Given the description of an element on the screen output the (x, y) to click on. 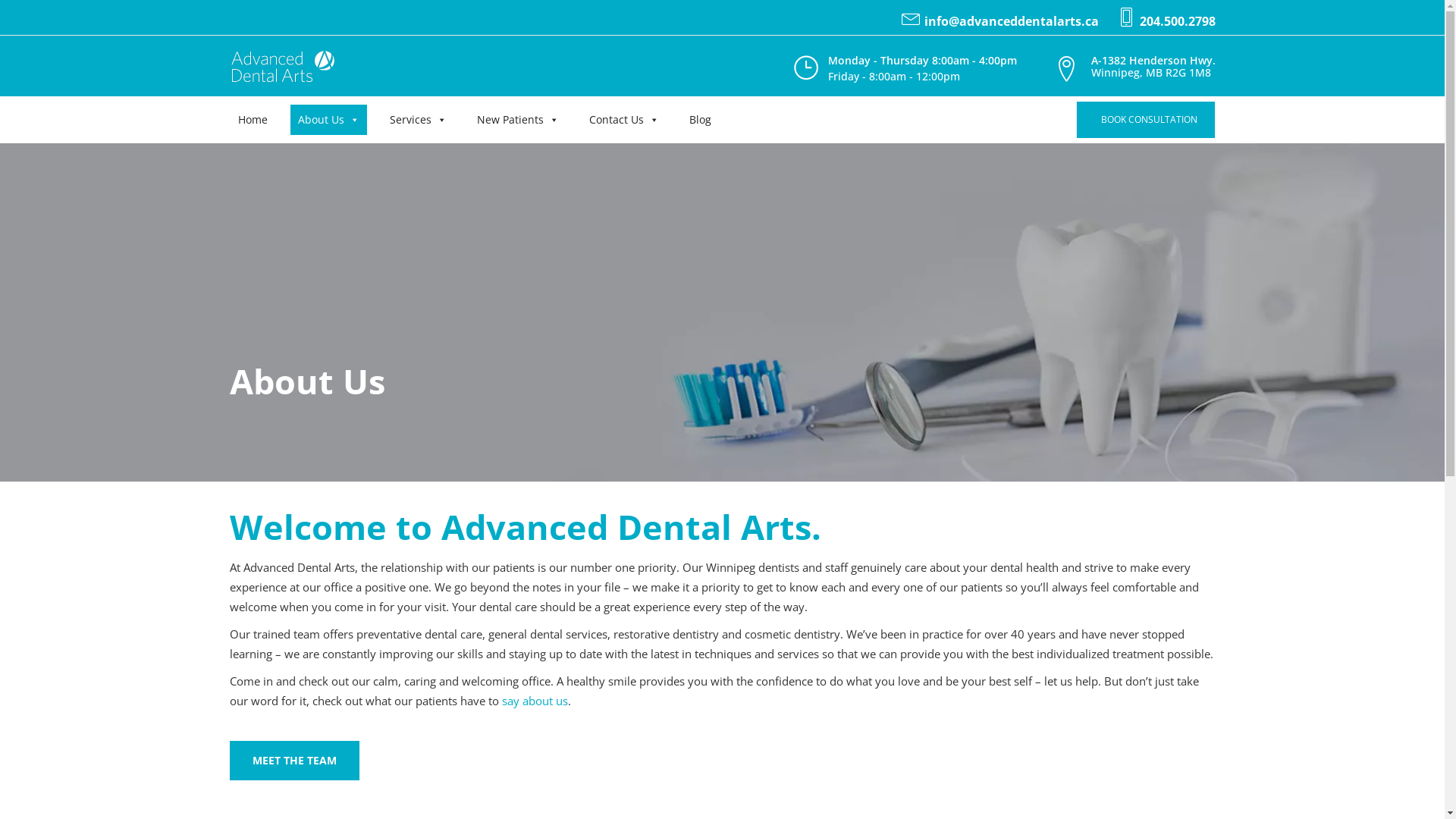
Winnipeg, MB R2G 1M8 Element type: text (1152, 72)
Home Element type: text (252, 119)
204.500.2798 Element type: text (1176, 20)
New Patients Element type: text (516, 119)
BOOK CONSULTATION Element type: text (1145, 119)
About Us Element type: text (327, 119)
Contact Us Element type: text (622, 119)
Services Element type: text (418, 119)
say about us Element type: text (534, 700)
A-1382 Henderson Hwy. Element type: text (1152, 59)
Blog Element type: text (699, 119)
info@advanceddentalarts.ca Element type: text (1010, 20)
MEET THE TEAM Element type: text (293, 760)
